Given the description of an element on the screen output the (x, y) to click on. 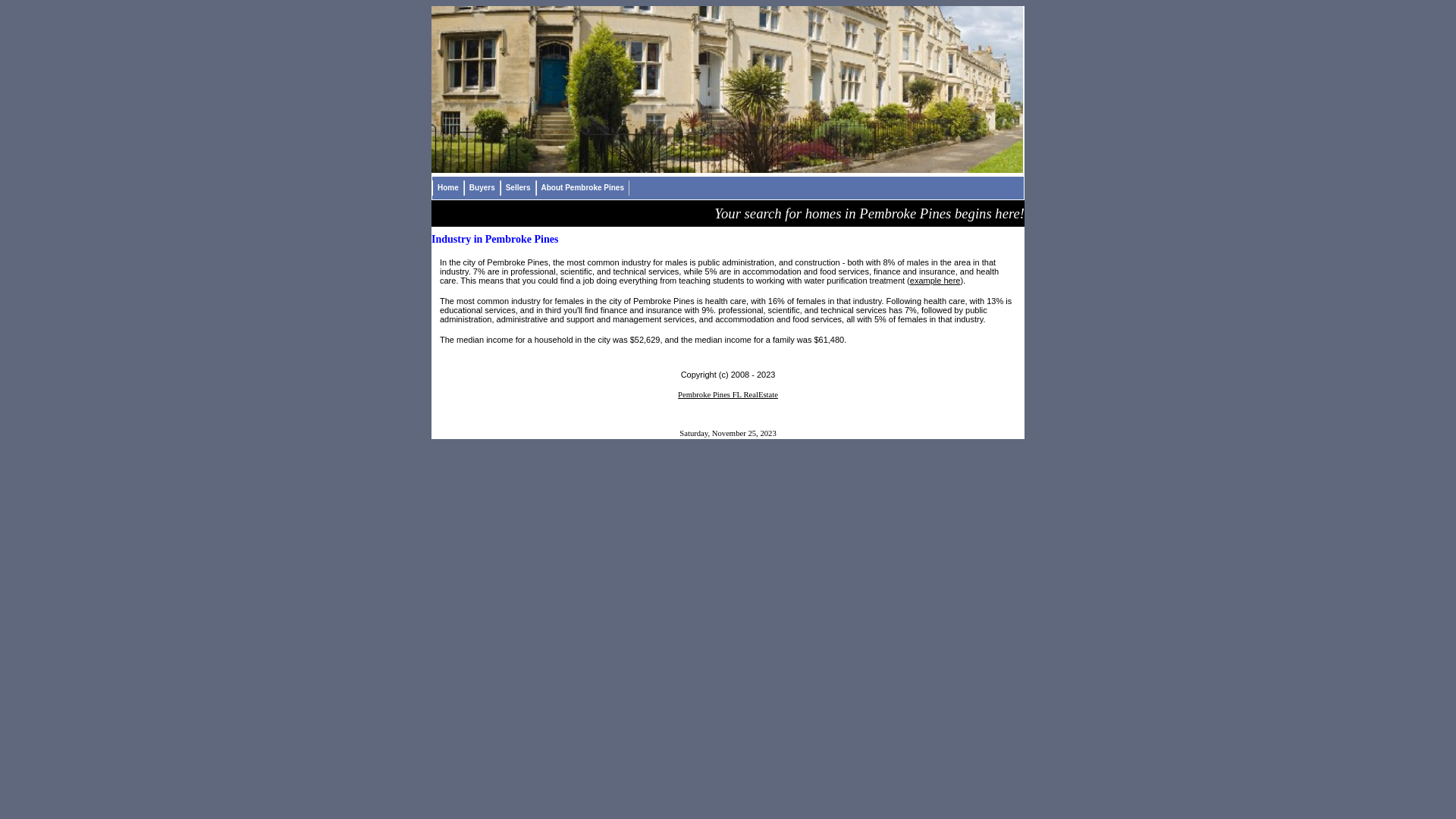
Sellers Element type: text (518, 187)
Buyers Element type: text (482, 187)
example here Element type: text (935, 280)
Home Element type: text (448, 187)
About Pembroke Pines Element type: text (582, 187)
Pembroke Pines FL RealEstate Element type: text (727, 392)
